Given the description of an element on the screen output the (x, y) to click on. 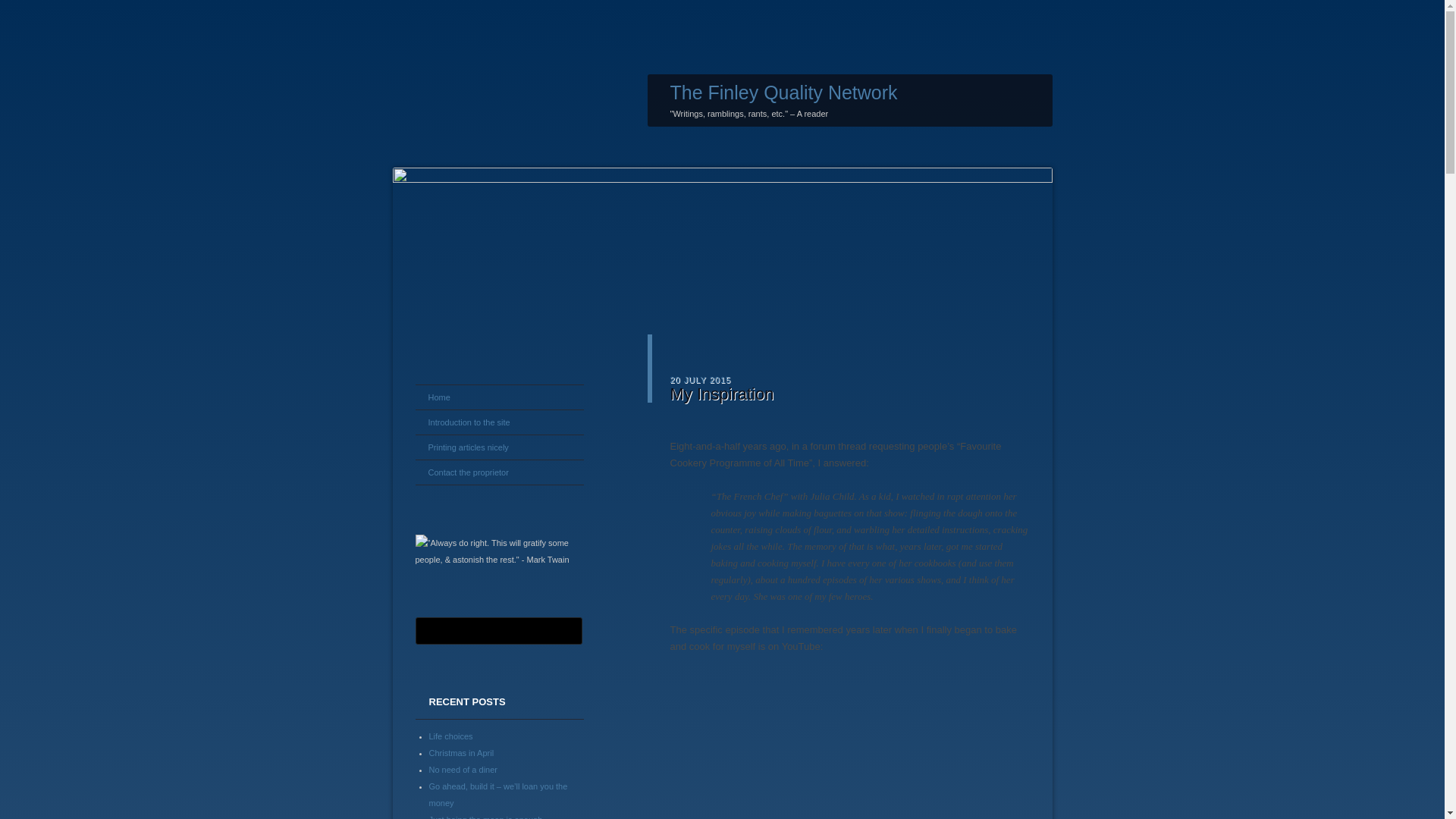
The Finley Quality Network (783, 92)
20 JULY 2015 (700, 379)
The Finley Quality Network (783, 92)
Printing articles nicely (498, 446)
Life choices (451, 735)
Search (21, 7)
No need of a diner (463, 768)
Just being the moon is enough (486, 816)
Contact the proprietor (498, 471)
Home (498, 396)
1:59 am (700, 379)
Introduction to the site (498, 421)
Christmas in April (462, 751)
